Given the description of an element on the screen output the (x, y) to click on. 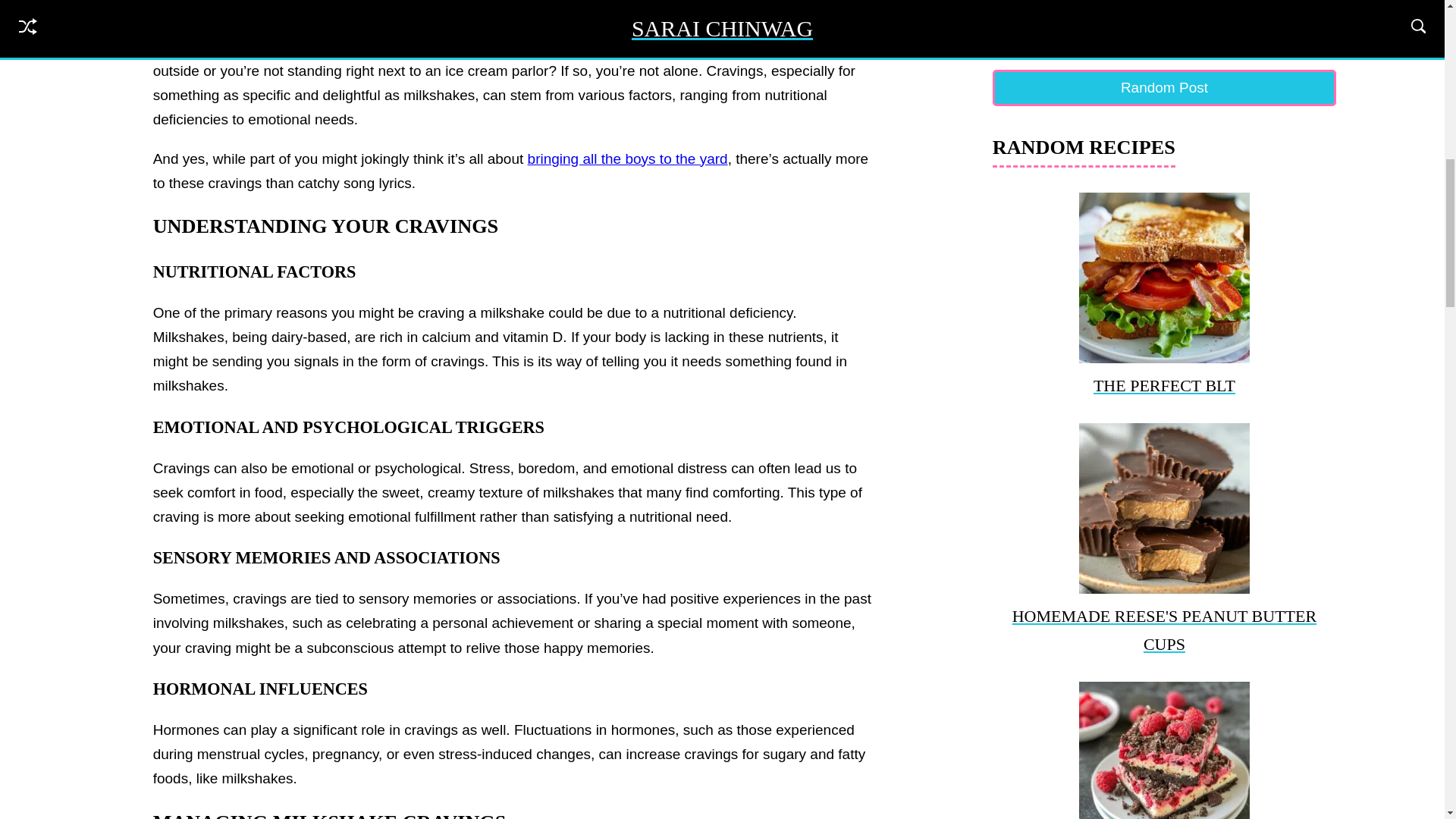
bringing all the boys to the yard (627, 158)
HOMEMADE REESE'S PEANUT BUTTER CUPS (1164, 541)
Random Post (1164, 87)
THE SPIRITUAL MEANING OF RAIN (1164, 23)
THE PERFECT BLT (1164, 296)
OREO CRUMBLE RASPBERRY CHEESECAKE BARS (1164, 750)
